Given the description of an element on the screen output the (x, y) to click on. 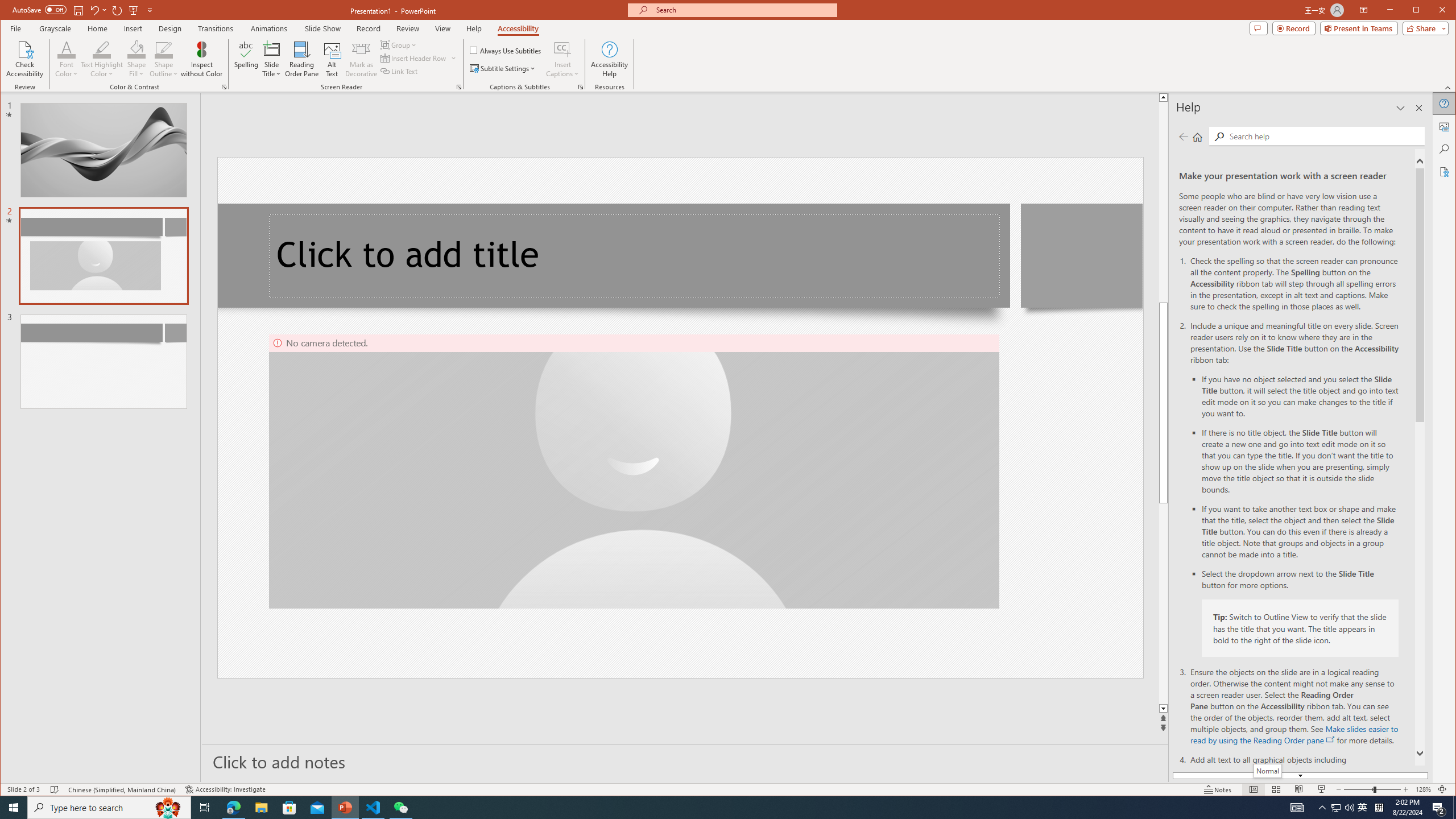
Search (1323, 135)
Insert Captions (562, 48)
Minimize (1335, 807)
Zoom In (1419, 11)
Font Color (1405, 789)
Close pane (66, 59)
AutomationID: 4105 (1418, 107)
Collapse the Ribbon (1297, 807)
Page down (1448, 87)
Zoom Out (1162, 603)
